Given the description of an element on the screen output the (x, y) to click on. 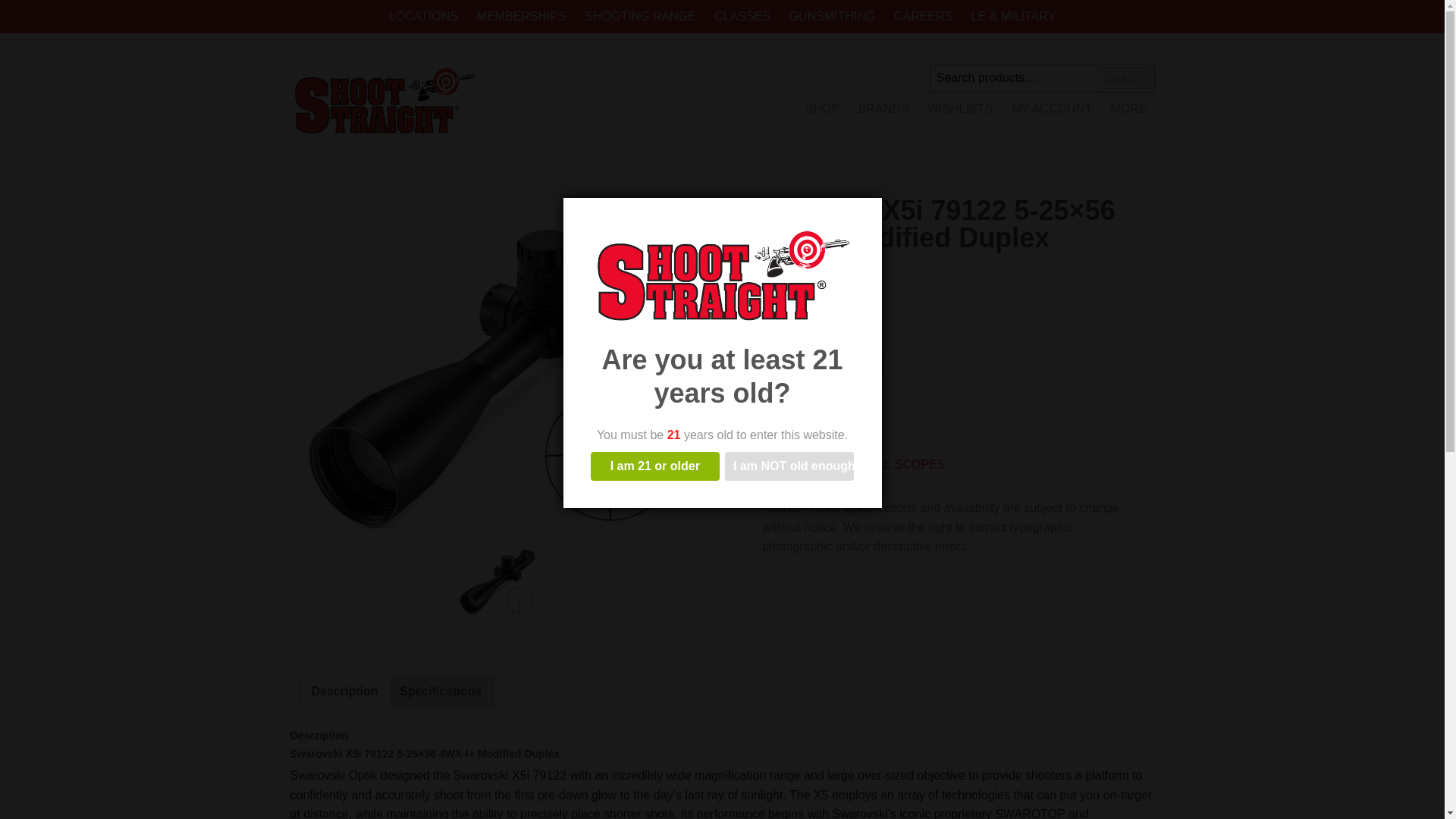
79122.jpg (497, 367)
Search (1125, 77)
SHOOTING RANGE (639, 16)
SHOP (822, 109)
GUNSMITHING (832, 16)
79122.jpg (497, 581)
LOCATIONS (423, 16)
CLASSES (741, 16)
1 (767, 327)
CAREERS (922, 16)
MEMBERSHIPS (520, 16)
Shoot Straight (384, 99)
